Given the description of an element on the screen output the (x, y) to click on. 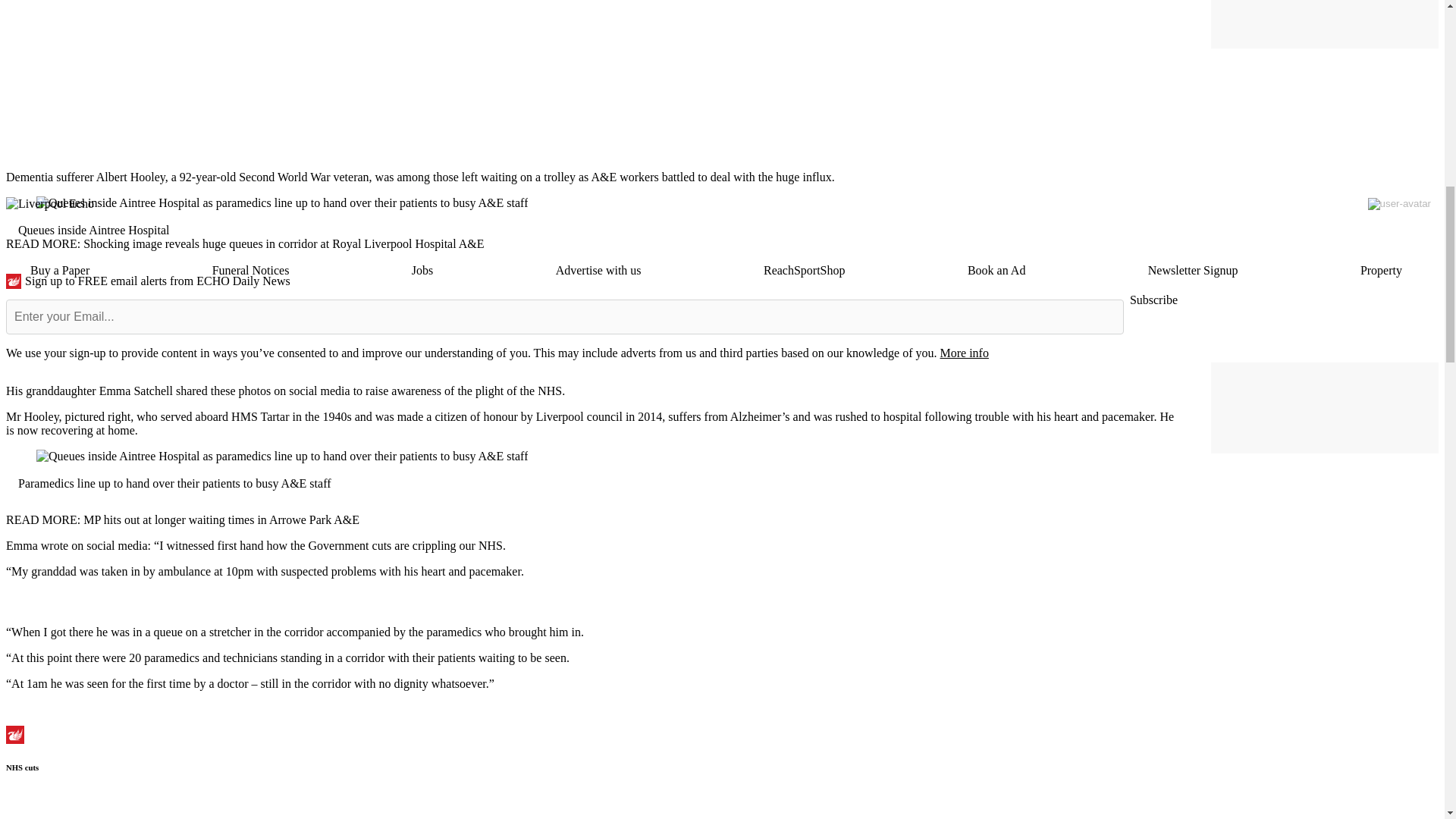
Dementia (28, 176)
Liverpool council (579, 416)
More info (963, 352)
Subscribe (1153, 300)
